Given the description of an element on the screen output the (x, y) to click on. 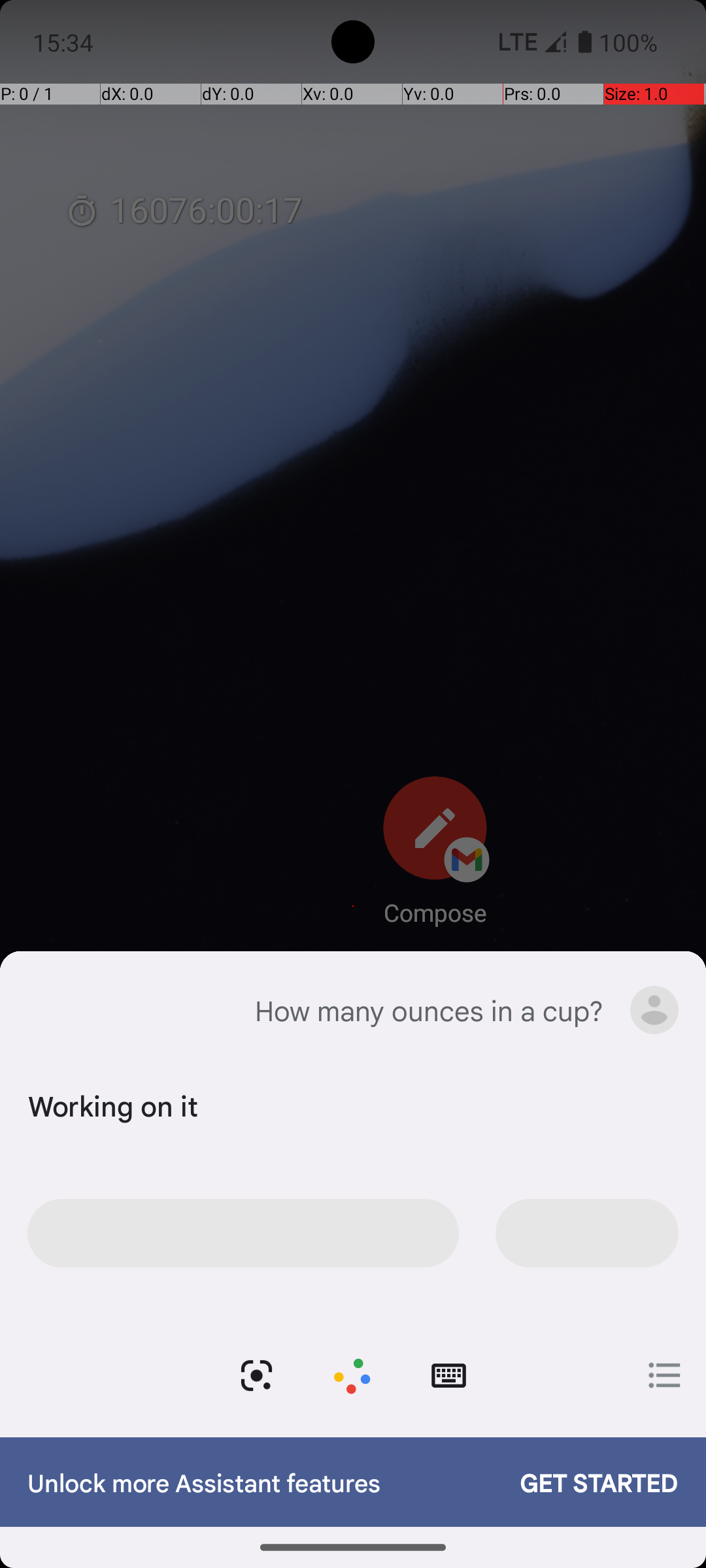
Tap to dismiss Assistant Element type: android.view.ViewGroup (353, 804)
Google Assistant widget. Element type: android.support.v7.widget.RecyclerView (353, 1194)
Camera search Element type: android.widget.ImageView (256, 1375)
  Element type: android.view.View (351, 1375)
Type mode Element type: android.widget.ImageView (448, 1375)
Unlock more Assistant features Element type: android.widget.TextView (259, 1481)
GET STARTED Element type: android.widget.TextView (585, 1481)
Open explore page Element type: android.widget.ImageView (664, 1375)
Google assistant Element type: android.widget.ImageView (48, 1009)
How many ounces in a cup? Element type: com.google.android.apps.gsa.searchplate.widget.StreamingTextView (428, 1009)
Google Assistant menu. Element type: android.widget.ImageView (654, 1009)
Working on it Element type: android.widget.TextView (349, 1104)
